Given the description of an element on the screen output the (x, y) to click on. 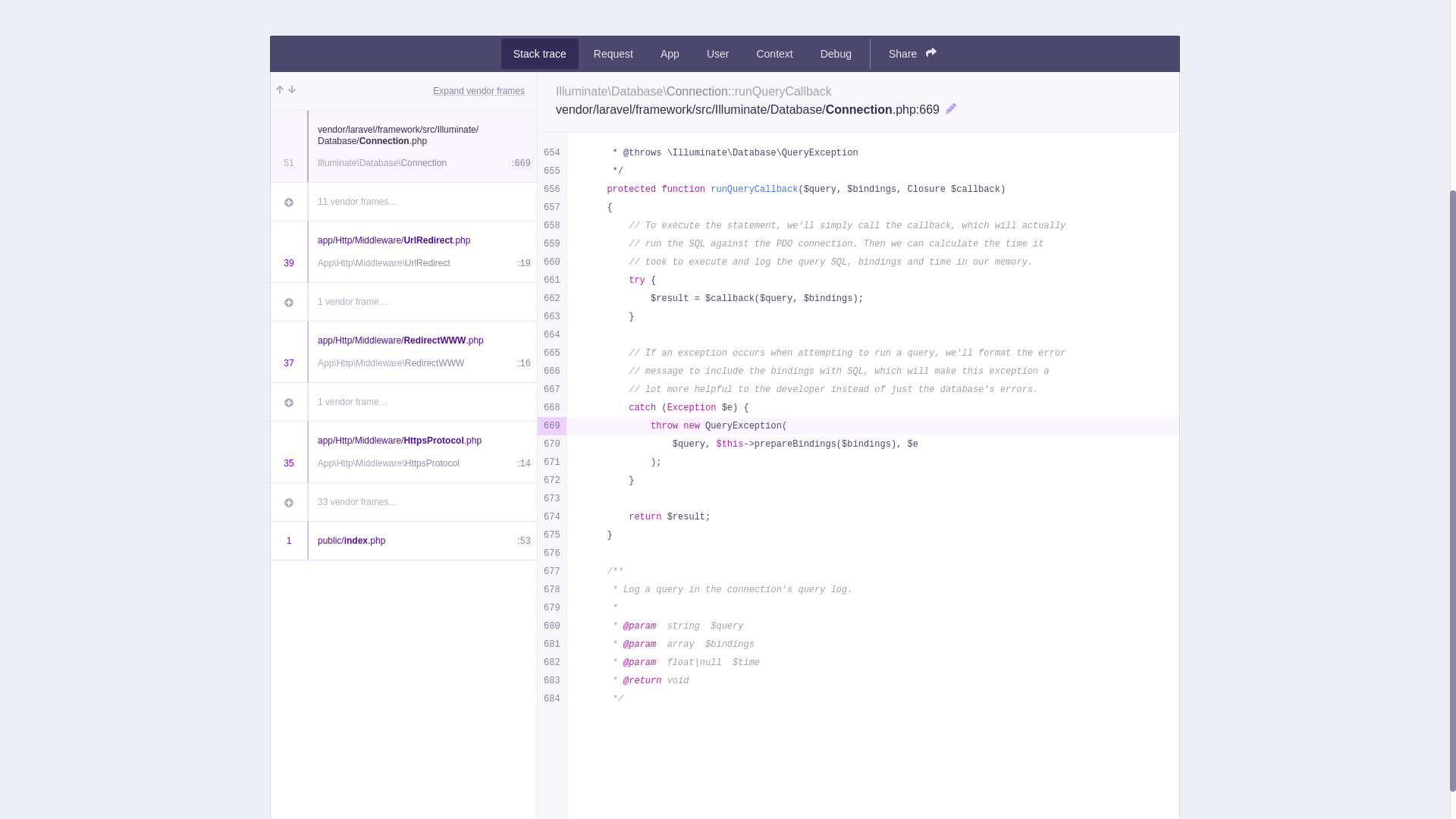
Context (774, 53)
Share (912, 53)
Request (612, 53)
Debug (835, 53)
App (669, 53)
User (717, 53)
Expand vendor frames (478, 90)
Stack trace (539, 53)
